Given the description of an element on the screen output the (x, y) to click on. 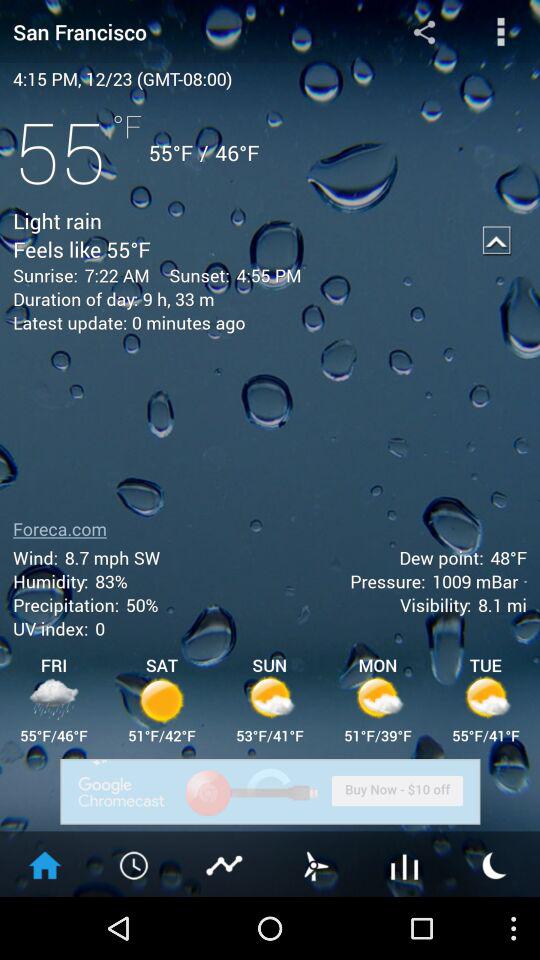
share the forecast (424, 31)
